Given the description of an element on the screen output the (x, y) to click on. 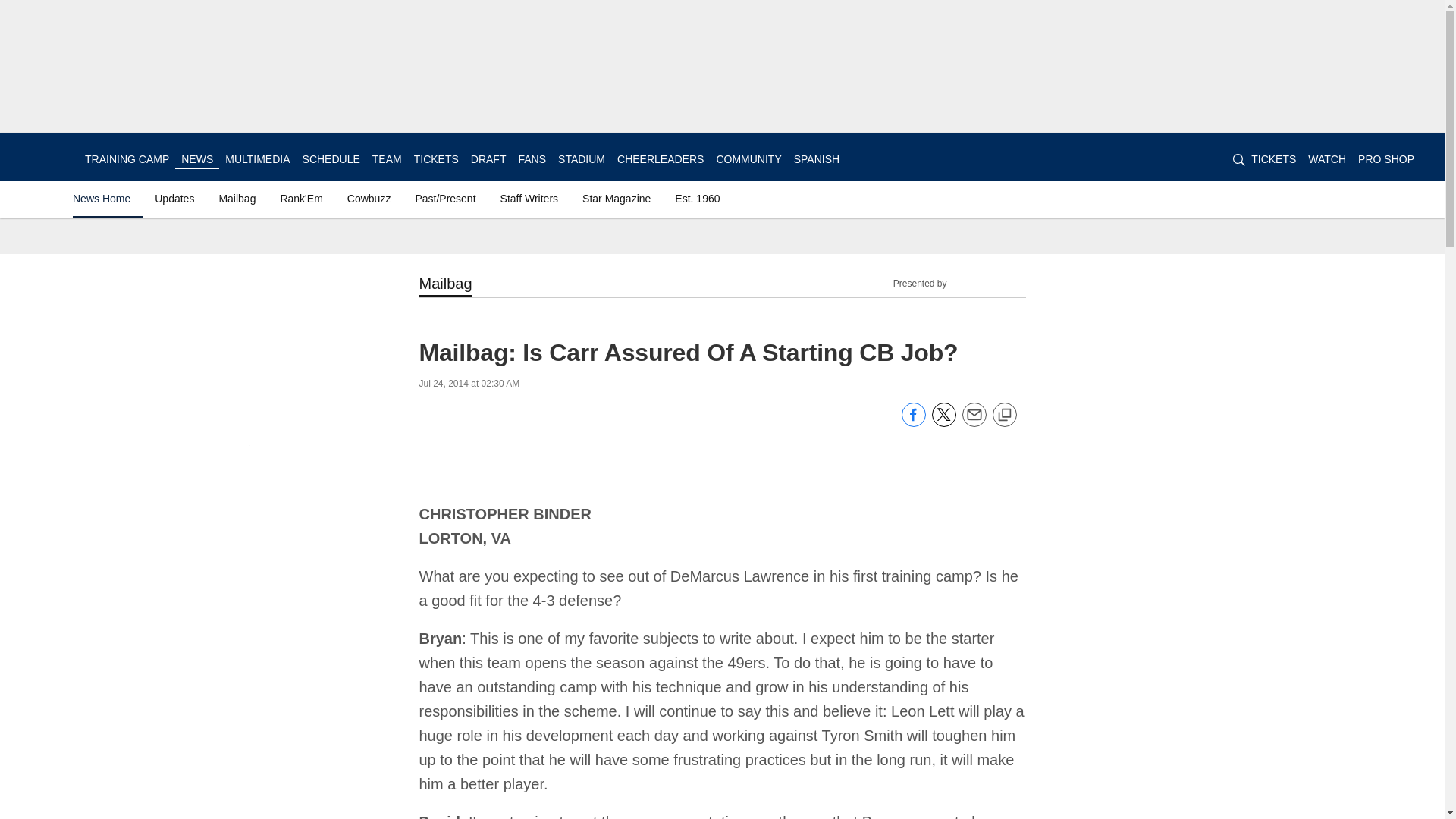
TICKETS (1272, 159)
NEWS (196, 159)
SCHEDULE (330, 159)
TEAM (386, 159)
CHEERLEADERS (660, 159)
FANS (532, 159)
TEAM (386, 159)
MULTIMEDIA (257, 159)
PRO SHOP (1385, 159)
FANS (532, 159)
